Given the description of an element on the screen output the (x, y) to click on. 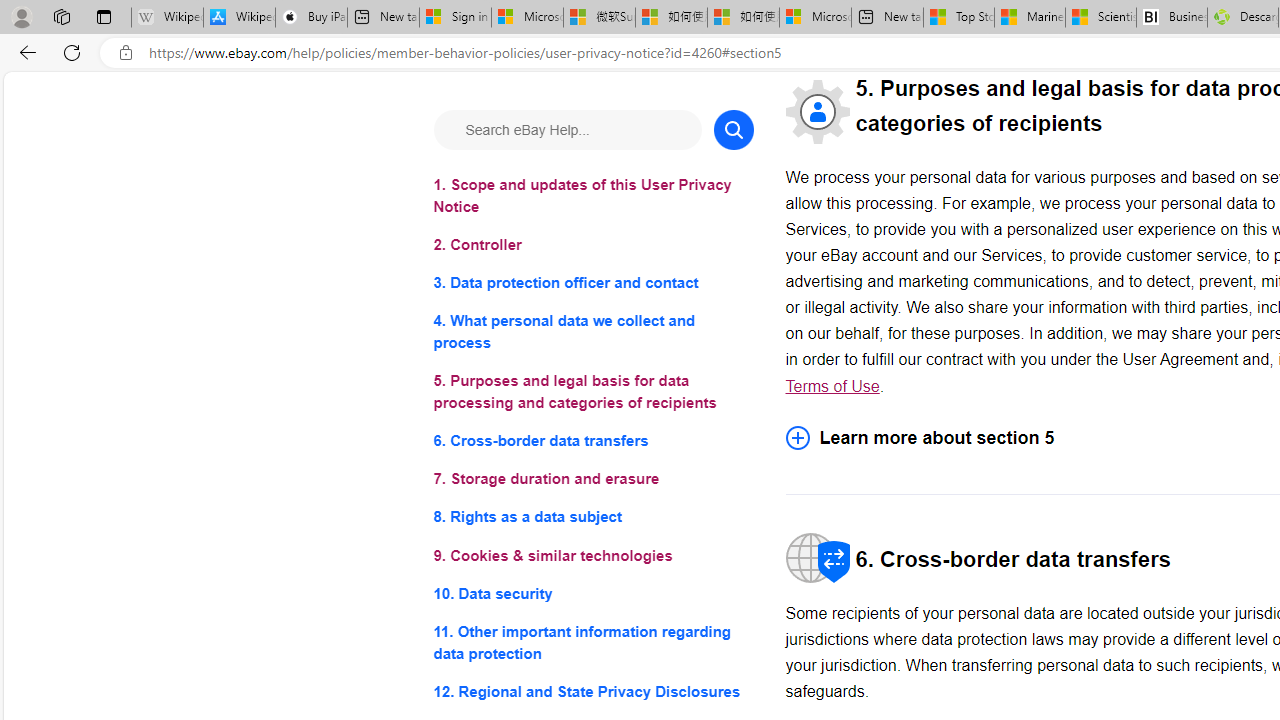
2. Controller (592, 245)
8. Rights as a data subject (592, 517)
Top Stories - MSN (959, 17)
12. Regional and State Privacy Disclosures (592, 690)
4. What personal data we collect and process (592, 332)
10. Data security (592, 592)
Microsoft account | Account Checkup (815, 17)
Marine life - MSN (1029, 17)
6. Cross-border data transfers (592, 440)
4. What personal data we collect and process (592, 332)
